Given the description of an element on the screen output the (x, y) to click on. 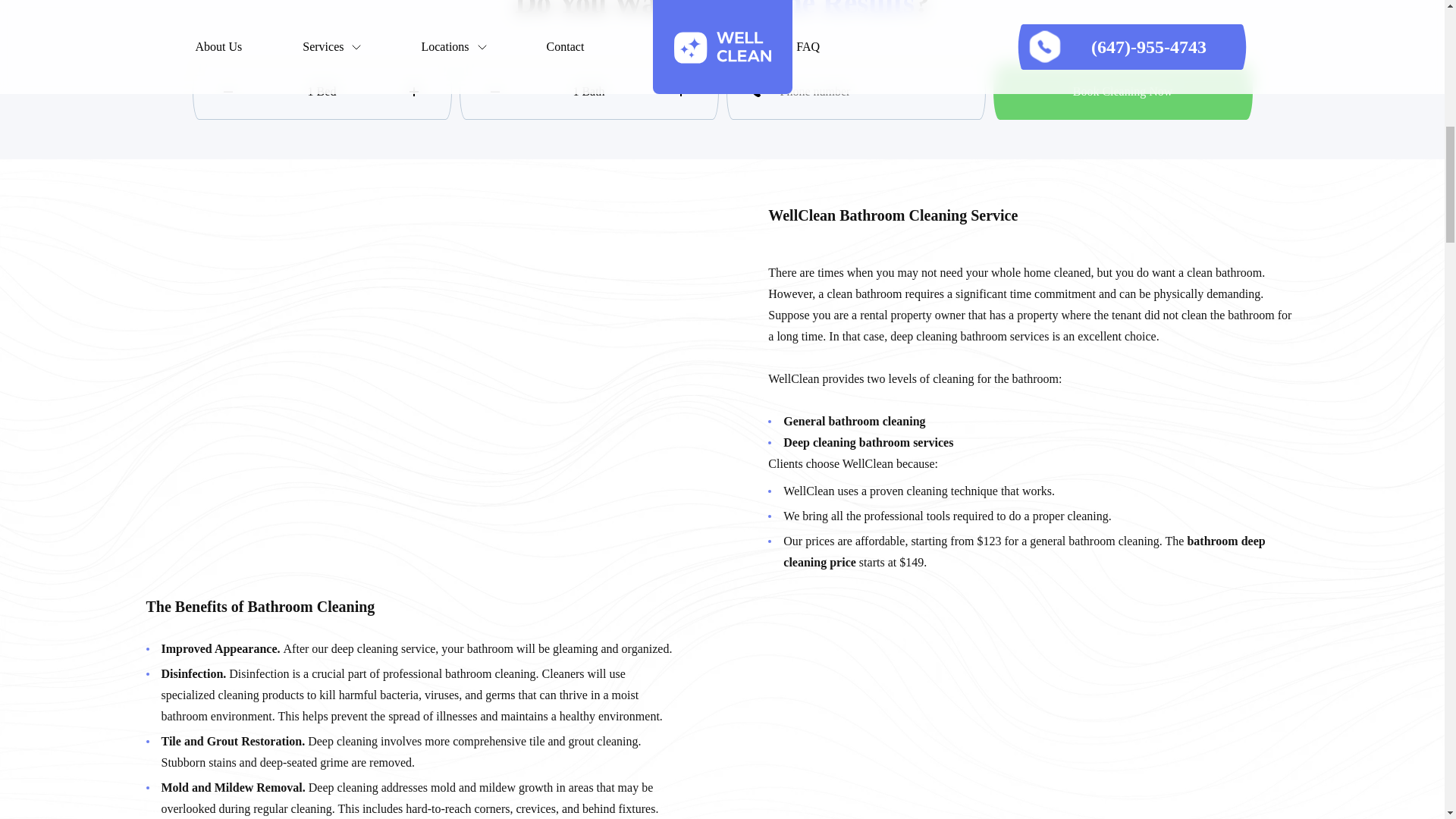
Book Cleaning Now (1122, 91)
1 Bath (589, 91)
1 Bed (321, 91)
